Given the description of an element on the screen output the (x, y) to click on. 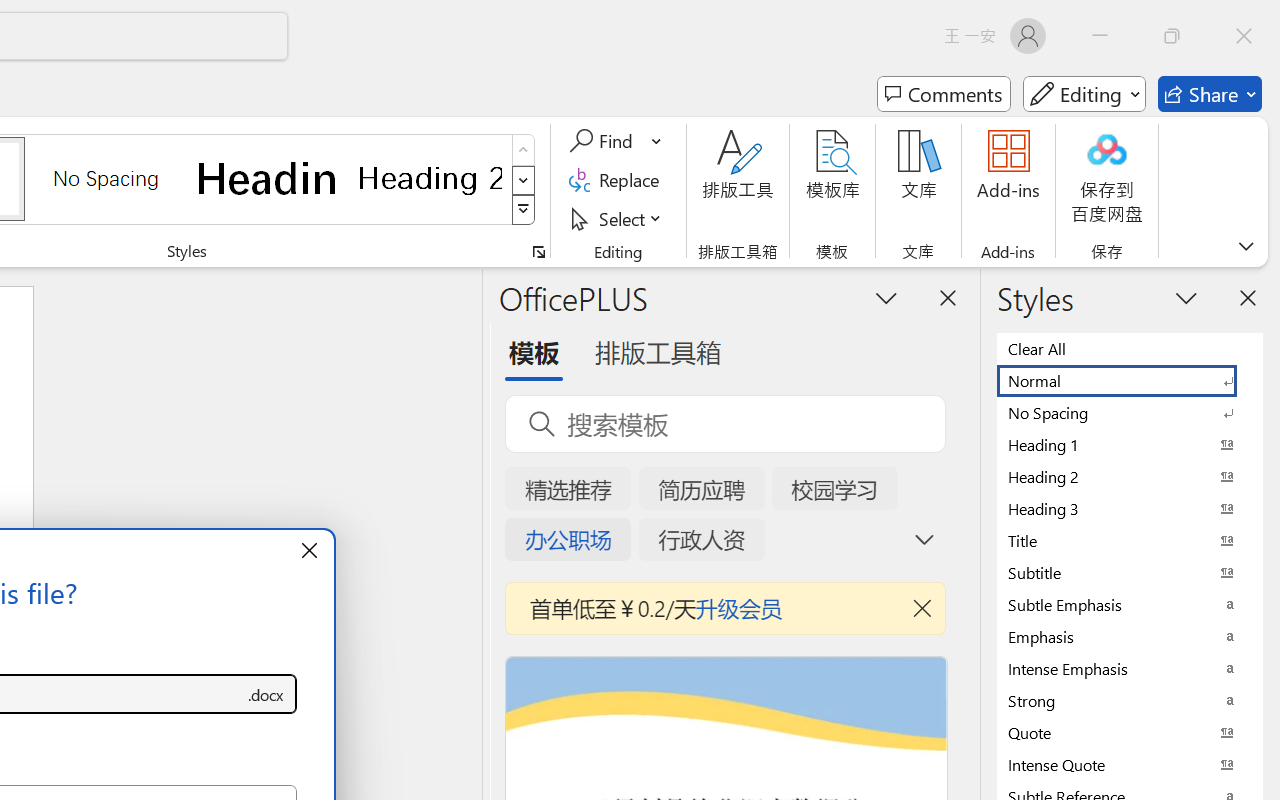
Save as type (265, 694)
Task Pane Options (886, 297)
Heading 2 (429, 178)
Restore Down (1172, 36)
Replace... (617, 179)
No Spacing (1130, 412)
Title (1130, 540)
